Given the description of an element on the screen output the (x, y) to click on. 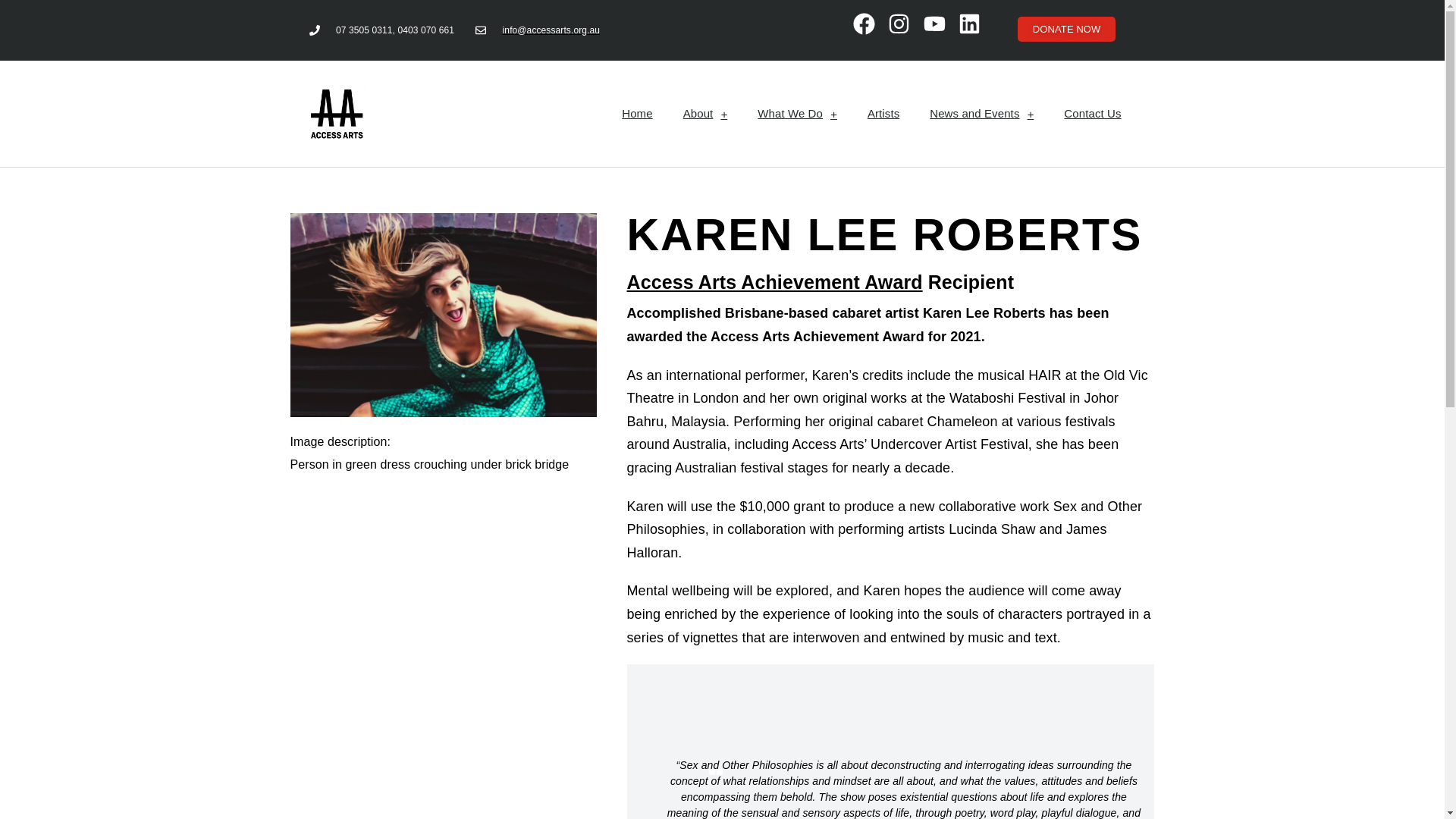
News and Events (981, 113)
DONATE NOW (1066, 28)
What We Do (796, 113)
